Given the description of an element on the screen output the (x, y) to click on. 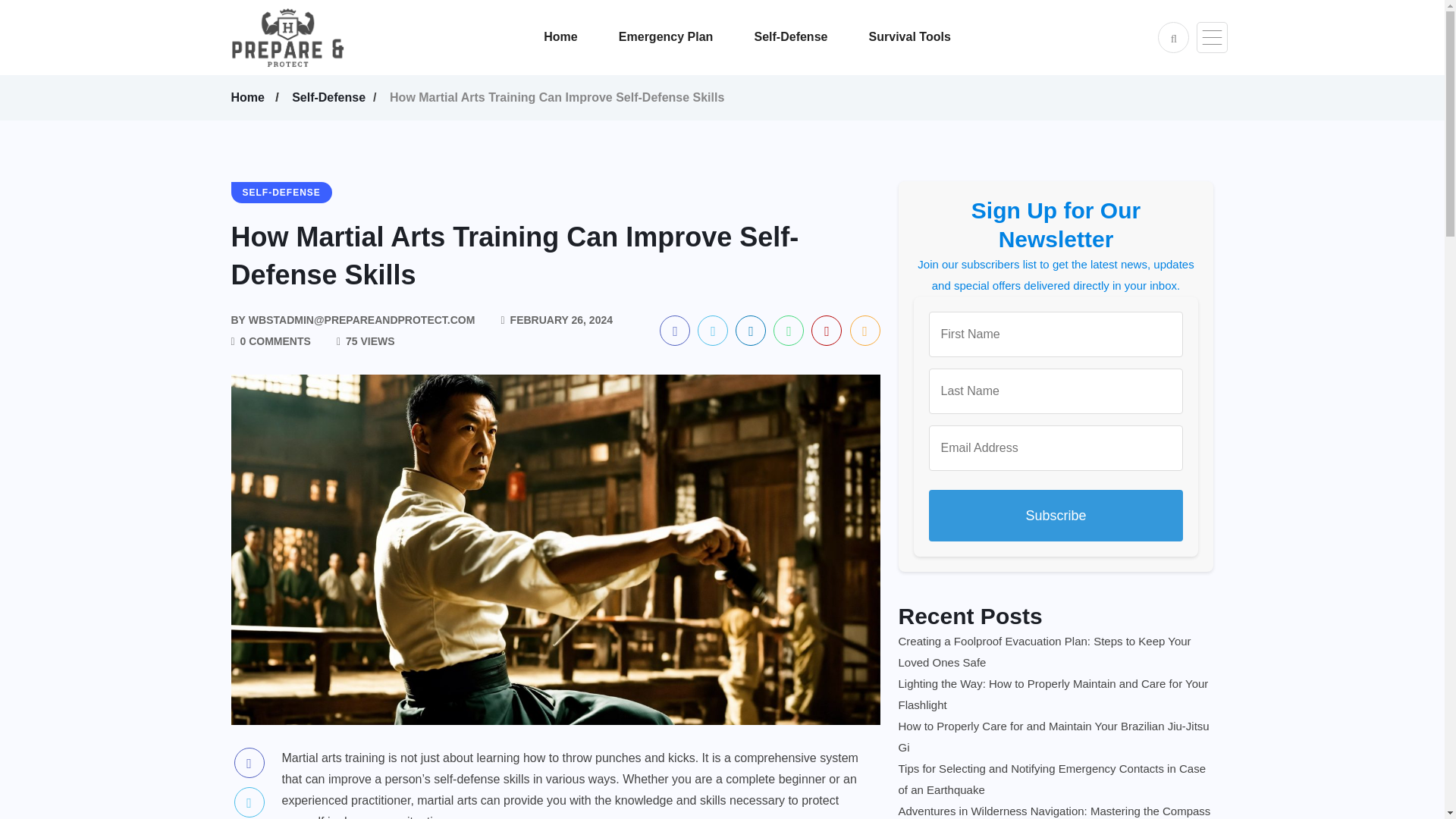
Self-Defense (331, 97)
SELF-DEFENSE (280, 192)
Self-Defense (809, 37)
Emergency Plan (684, 37)
Home (249, 97)
Home (578, 37)
Survival Tools (928, 37)
Subscribe (1055, 515)
